Given the description of an element on the screen output the (x, y) to click on. 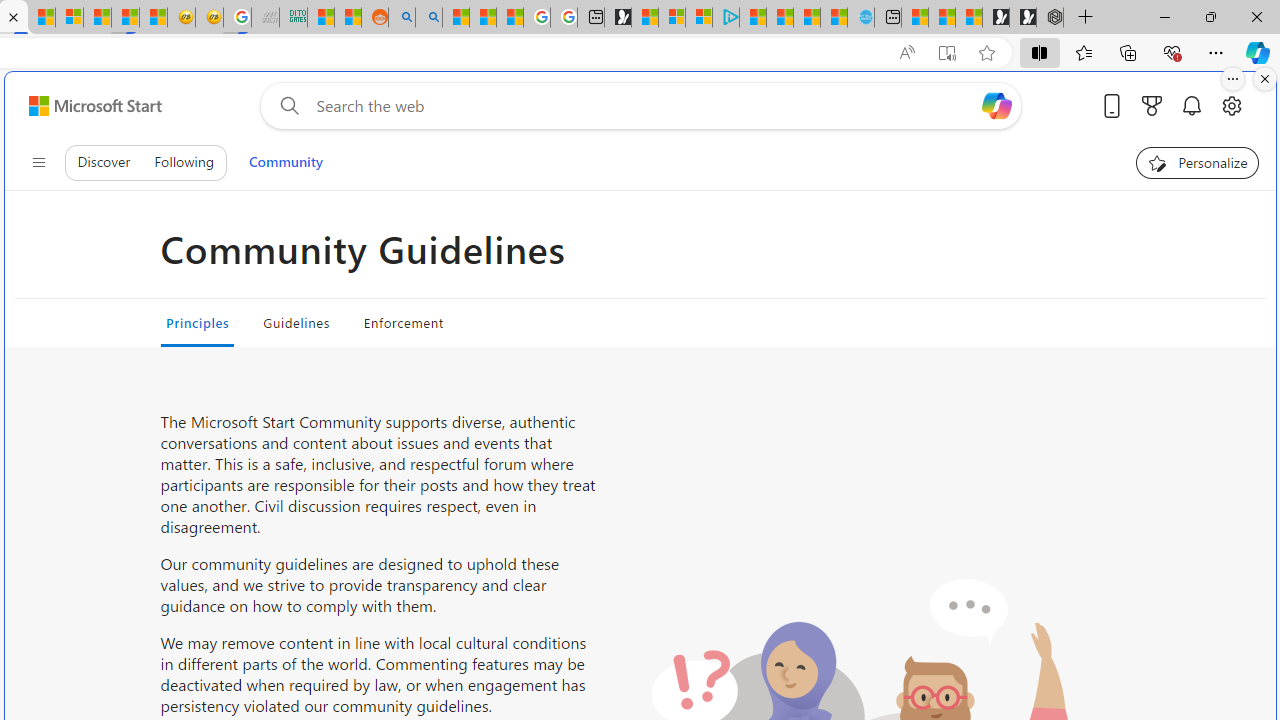
Class: control icon-only (38, 162)
Personalize your feed" (1197, 162)
Community (285, 162)
